Given the description of an element on the screen output the (x, y) to click on. 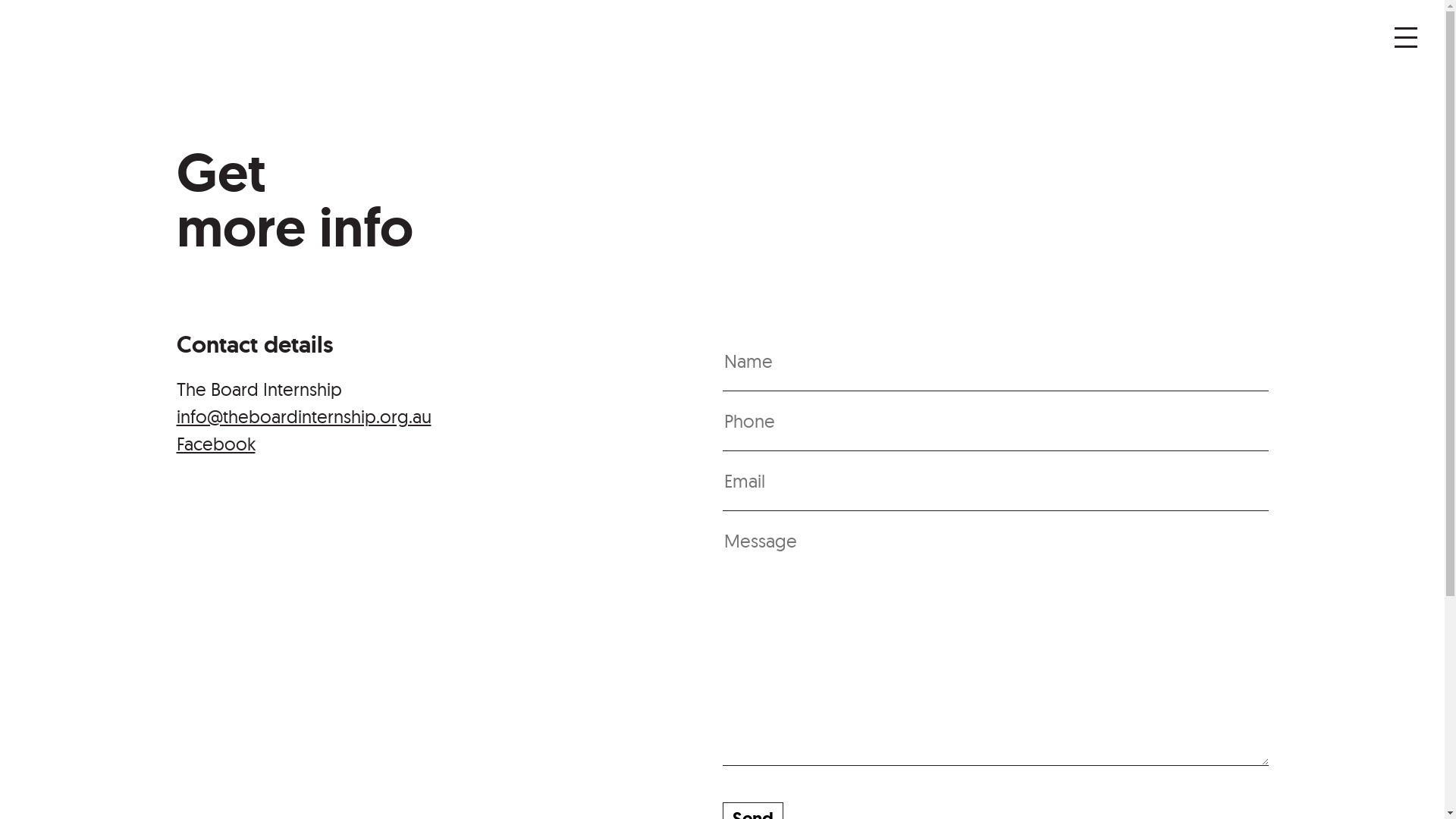
info@theboardinternship.org.au Element type: text (302, 415)
Facebook Element type: text (214, 443)
